Given the description of an element on the screen output the (x, y) to click on. 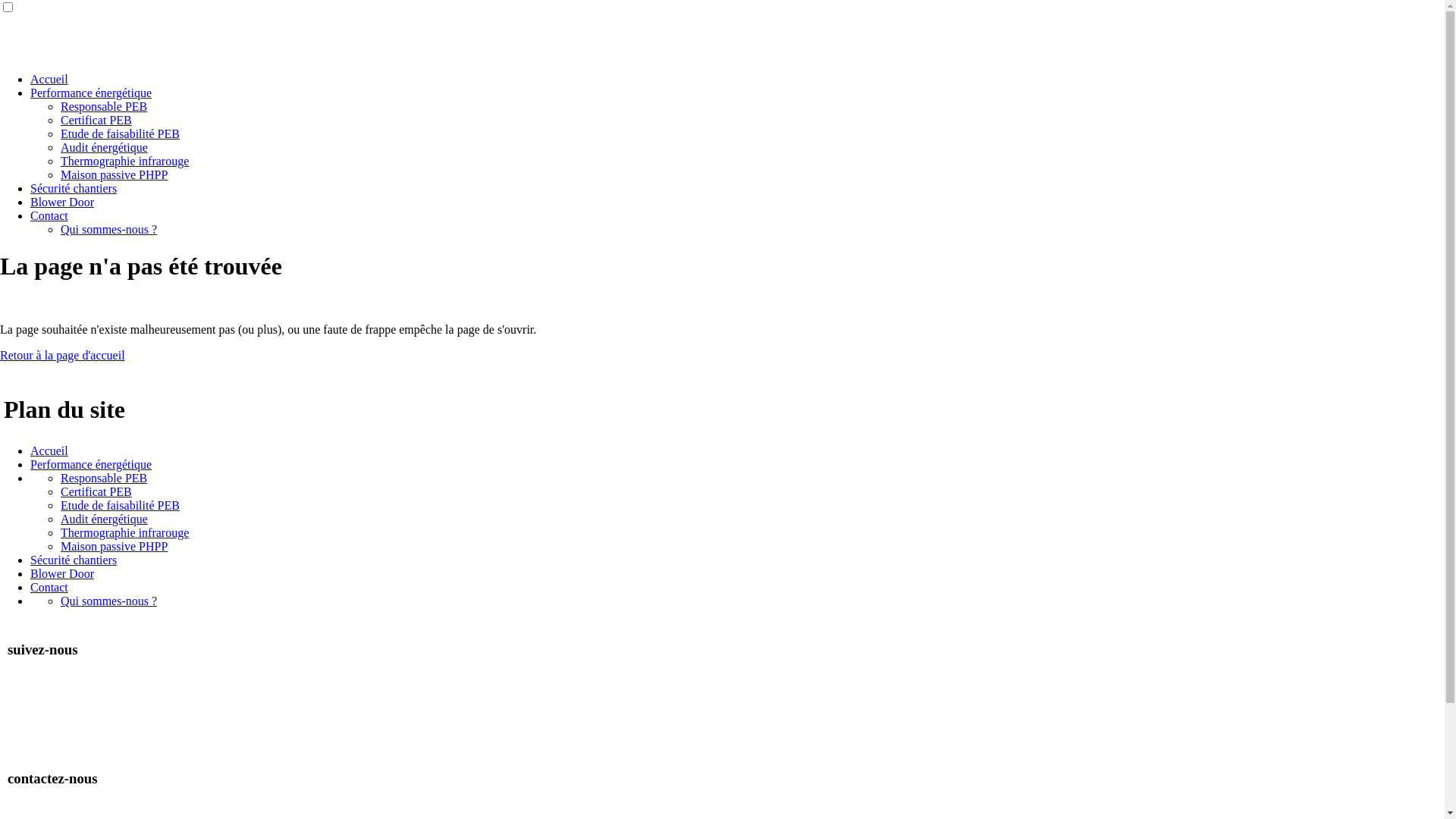
Maison passive PHPP Element type: text (113, 174)
Blower Door Element type: text (62, 201)
Accueil Element type: text (49, 450)
Contact Element type: text (49, 215)
Accueil Element type: text (49, 78)
Thermographie infrarouge Element type: text (124, 532)
Contact Element type: text (49, 586)
Responsable PEB Element type: text (103, 477)
Certificat PEB Element type: text (95, 491)
Blower Door Element type: text (62, 573)
Certificat PEB Element type: text (95, 119)
Responsable PEB Element type: text (103, 106)
Maison passive PHPP Element type: text (113, 545)
Qui sommes-nous ? Element type: text (108, 600)
Thermographie infrarouge Element type: text (124, 160)
Qui sommes-nous ? Element type: text (108, 228)
